Given the description of an element on the screen output the (x, y) to click on. 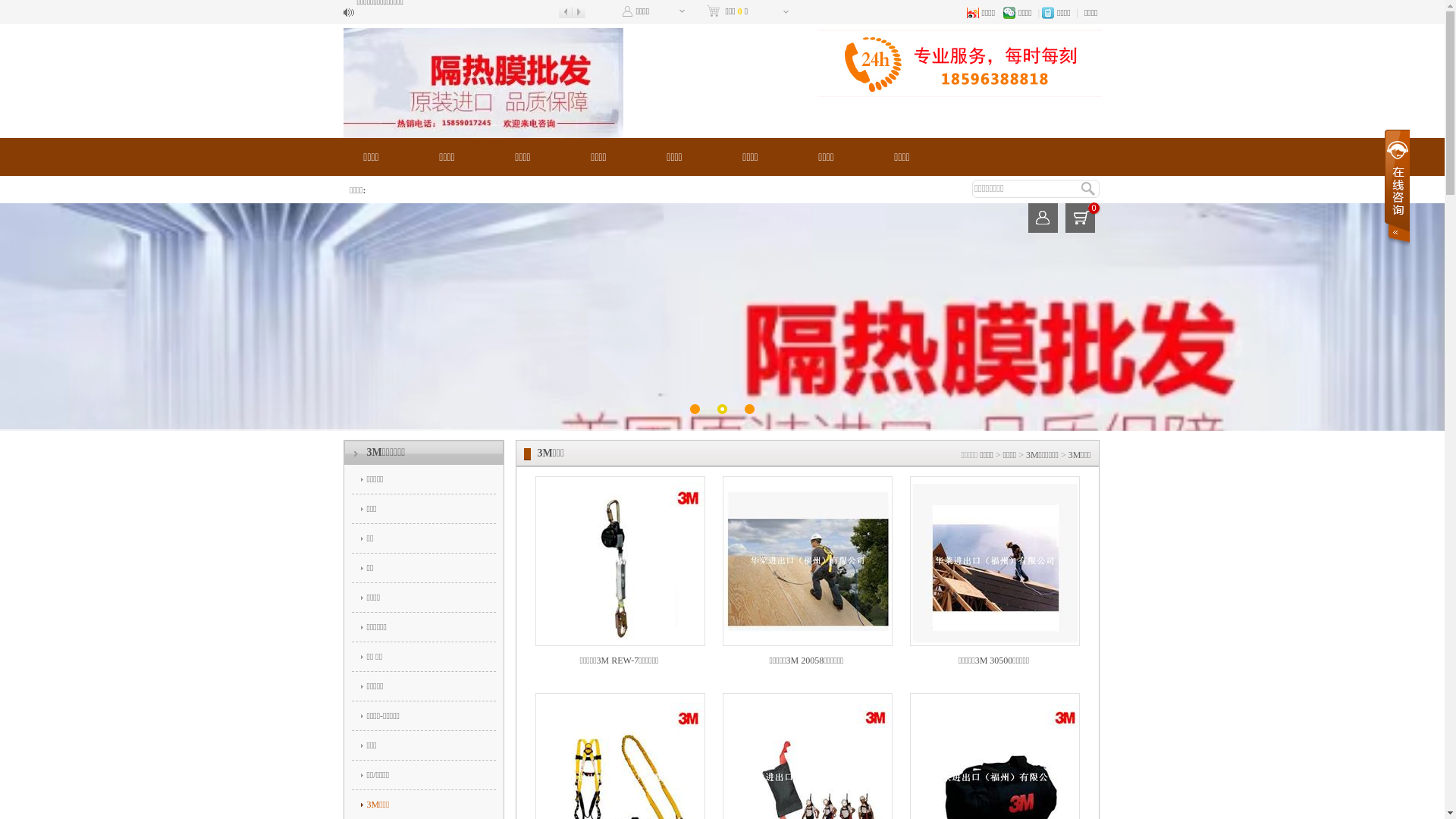
0 Element type: text (1080, 217)
  Element type: text (1395, 187)
hotline Element type: hover (958, 62)
Logo Element type: hover (482, 83)
  Element type: text (1042, 217)
